Given the description of an element on the screen output the (x, y) to click on. 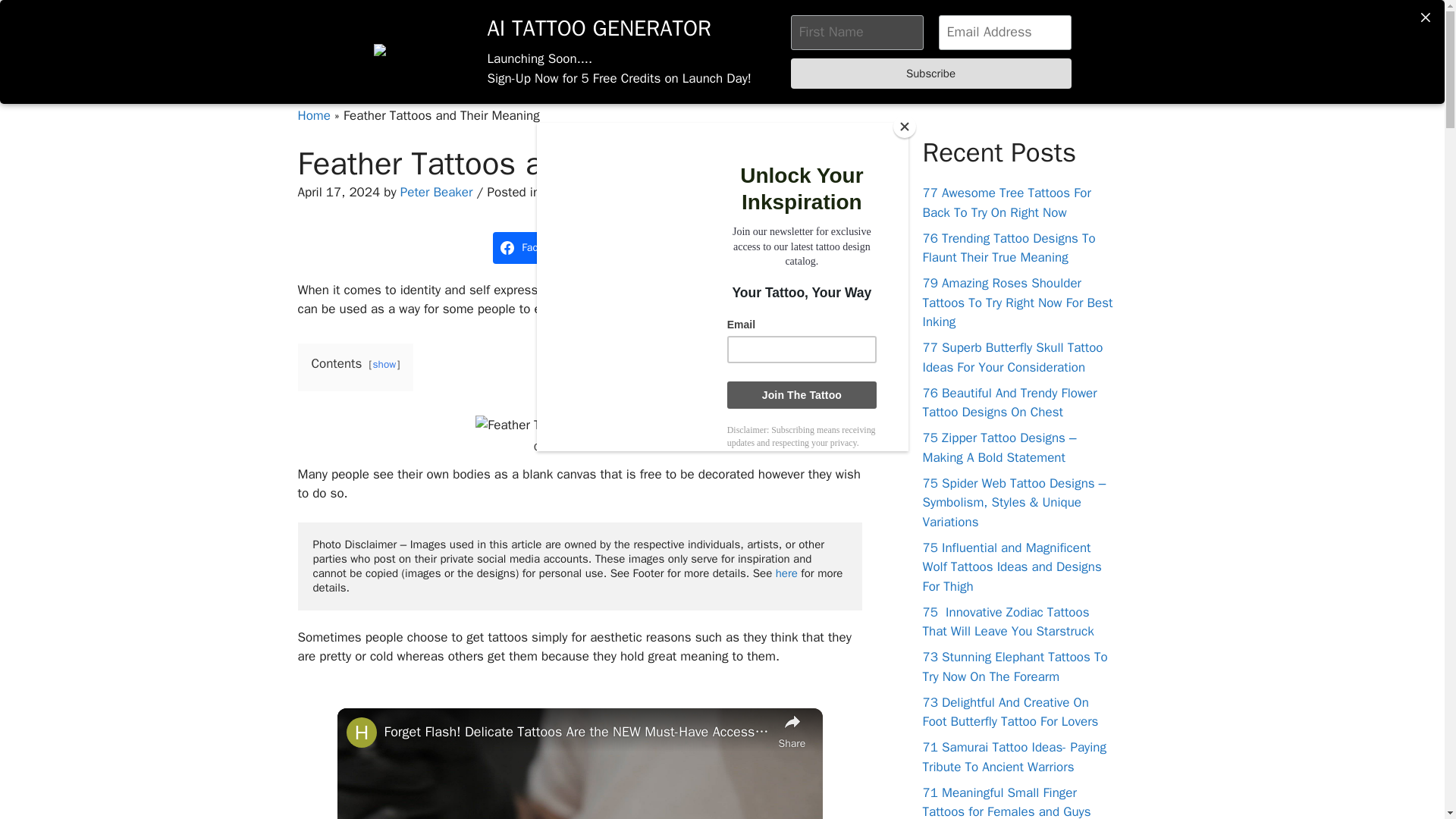
here (786, 572)
Subscribe (930, 73)
Home (313, 115)
Share on Pinterest (621, 247)
Tattoo Artists (927, 37)
Facebook (534, 247)
Share on Facebook (534, 247)
Pinterest (621, 247)
Tattoo Design Ideas (814, 37)
show (384, 364)
Peter Beaker (436, 191)
Company (1099, 37)
Tattoo Design Ideas (599, 191)
Piercings (1013, 37)
Home (626, 37)
